Given the description of an element on the screen output the (x, y) to click on. 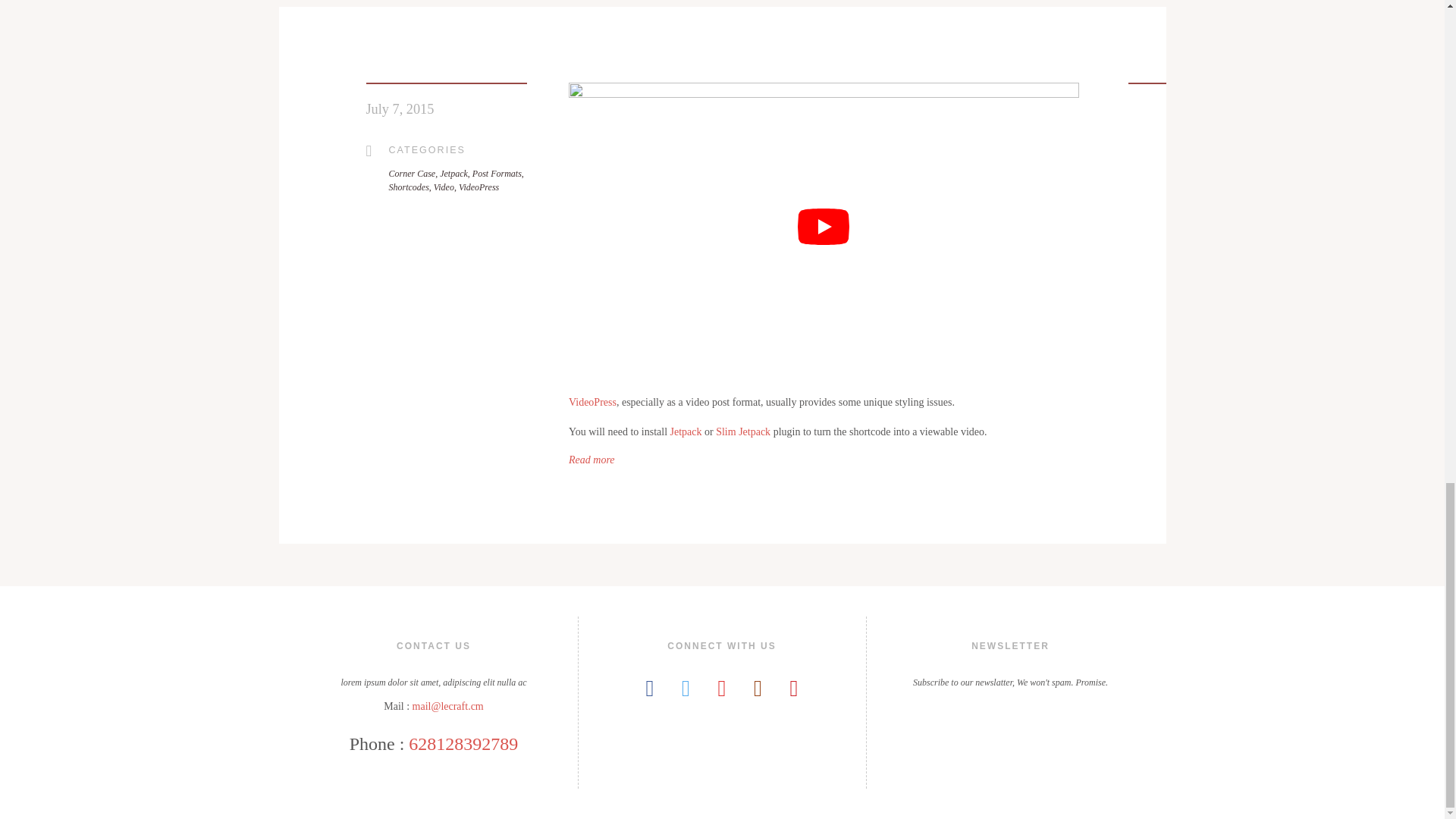
Tuesday, July 7th, 2015, 3:00 am (399, 109)
Jetpack for WordPress (685, 431)
VideoPress Plugin for WordPress (592, 401)
Slim Jetpack (743, 431)
